Given the description of an element on the screen output the (x, y) to click on. 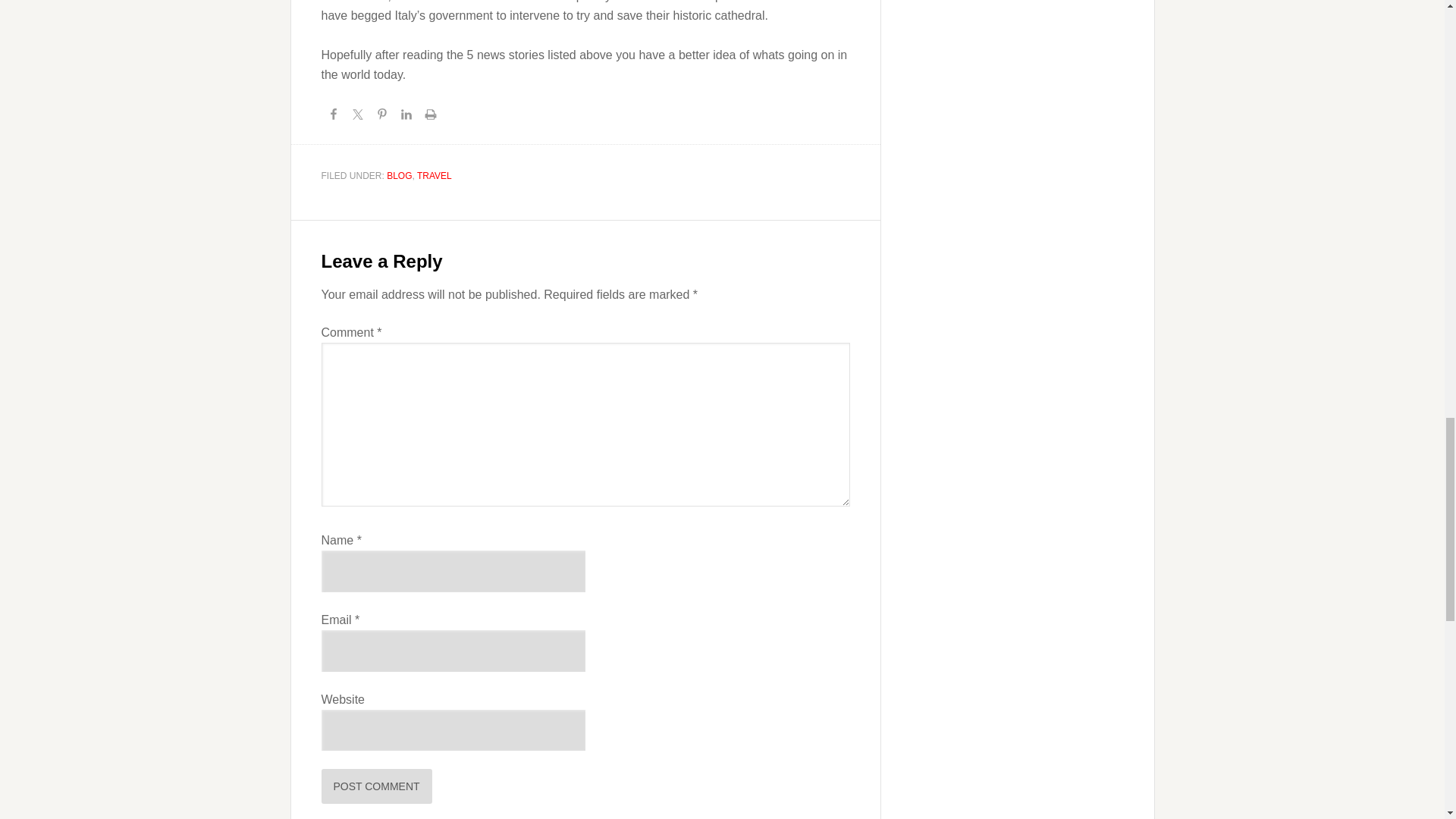
Share on Facebook (333, 116)
Share on Pinterest (381, 116)
TRAVEL (433, 175)
Print this Page (430, 116)
BLOG (399, 175)
Post Comment (376, 786)
Share on Twitter (357, 116)
Post Comment (376, 786)
Share on LinkedIn (406, 116)
